Given the description of an element on the screen output the (x, y) to click on. 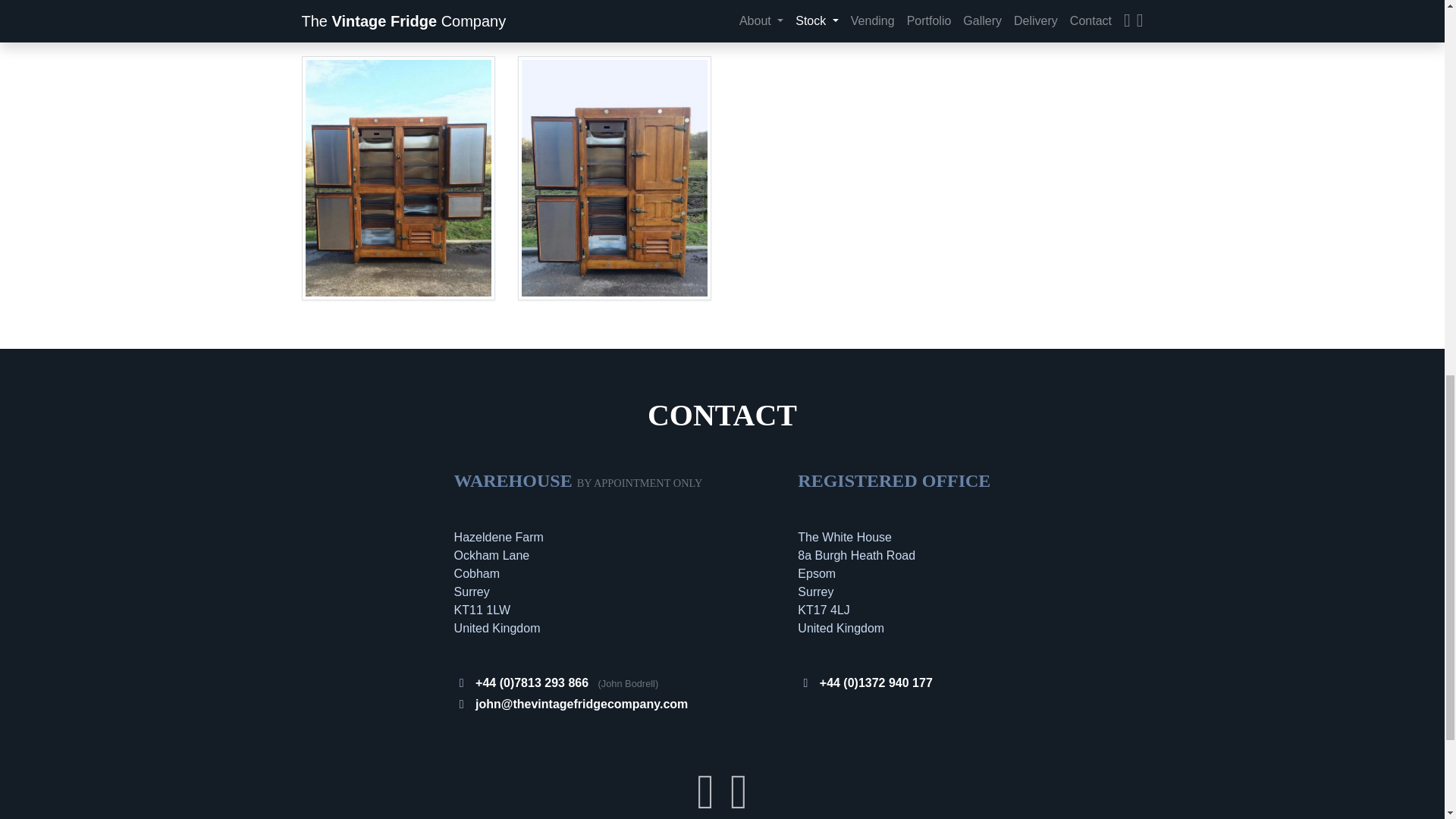
Find us on Instagram (739, 803)
Find us on Facebook (705, 803)
